Given the description of an element on the screen output the (x, y) to click on. 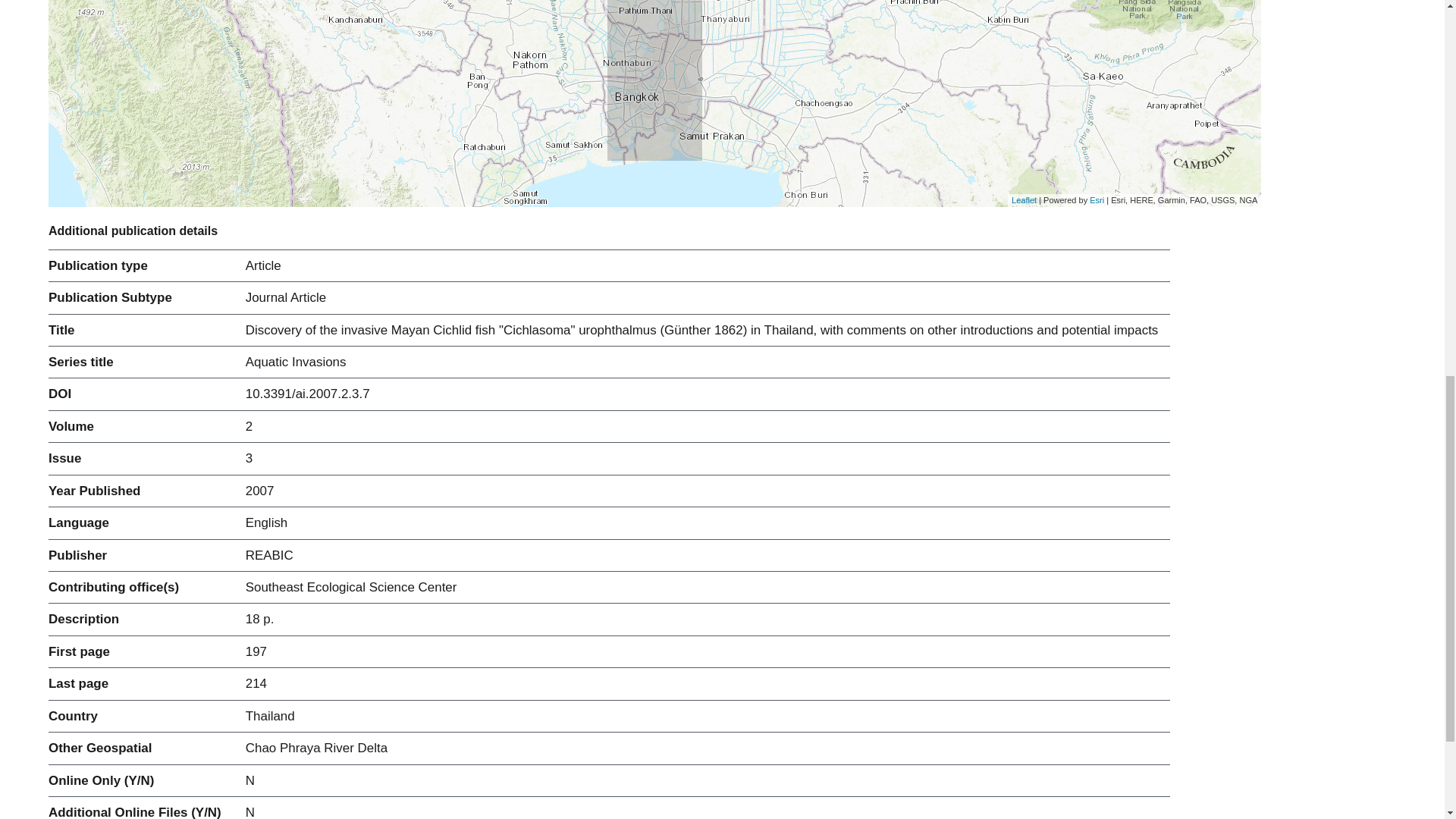
Esri (1096, 199)
Leaflet (1023, 199)
A JS library for interactive maps (1023, 199)
